Given the description of an element on the screen output the (x, y) to click on. 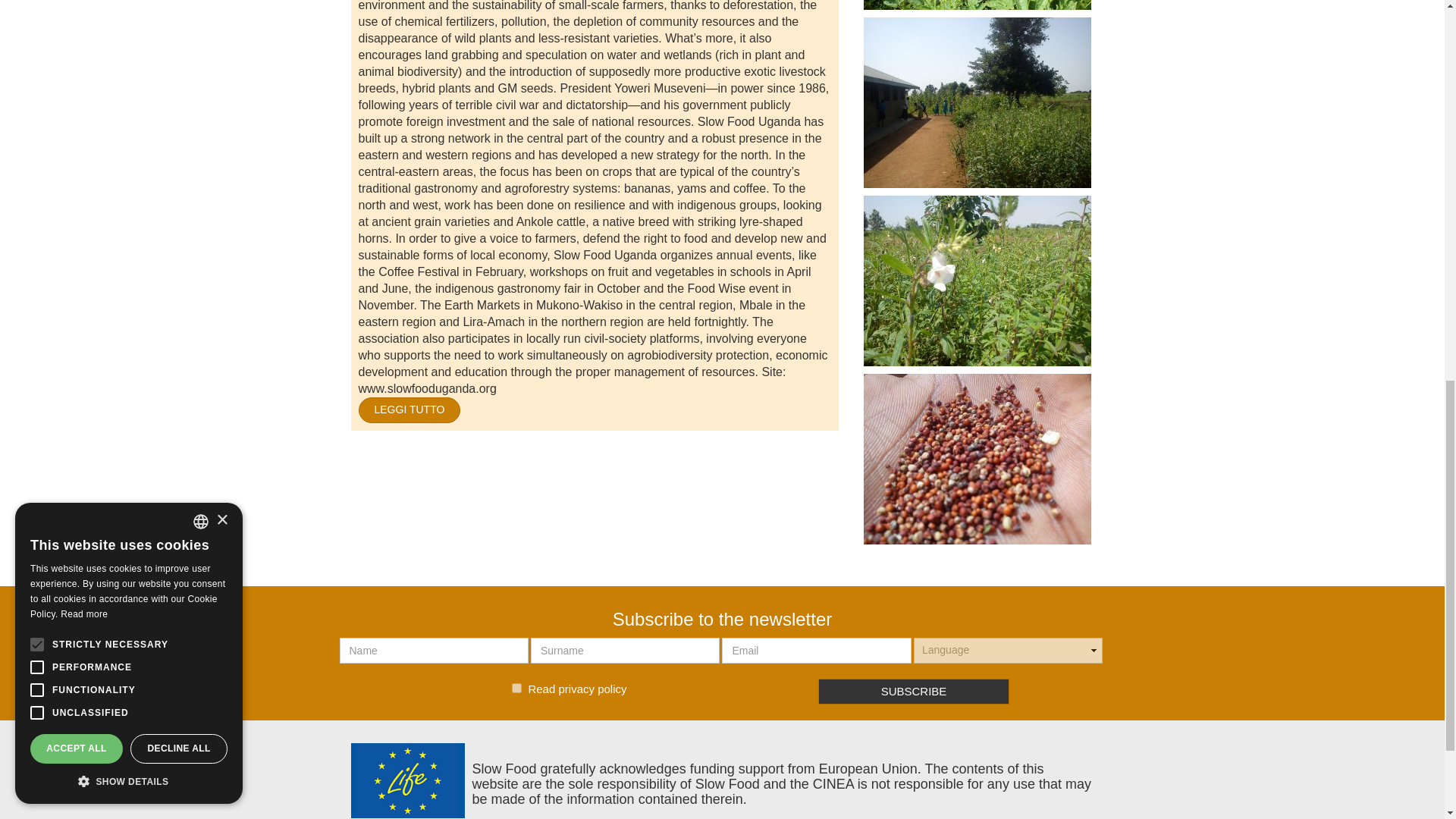
Subscribe (914, 691)
